Given the description of an element on the screen output the (x, y) to click on. 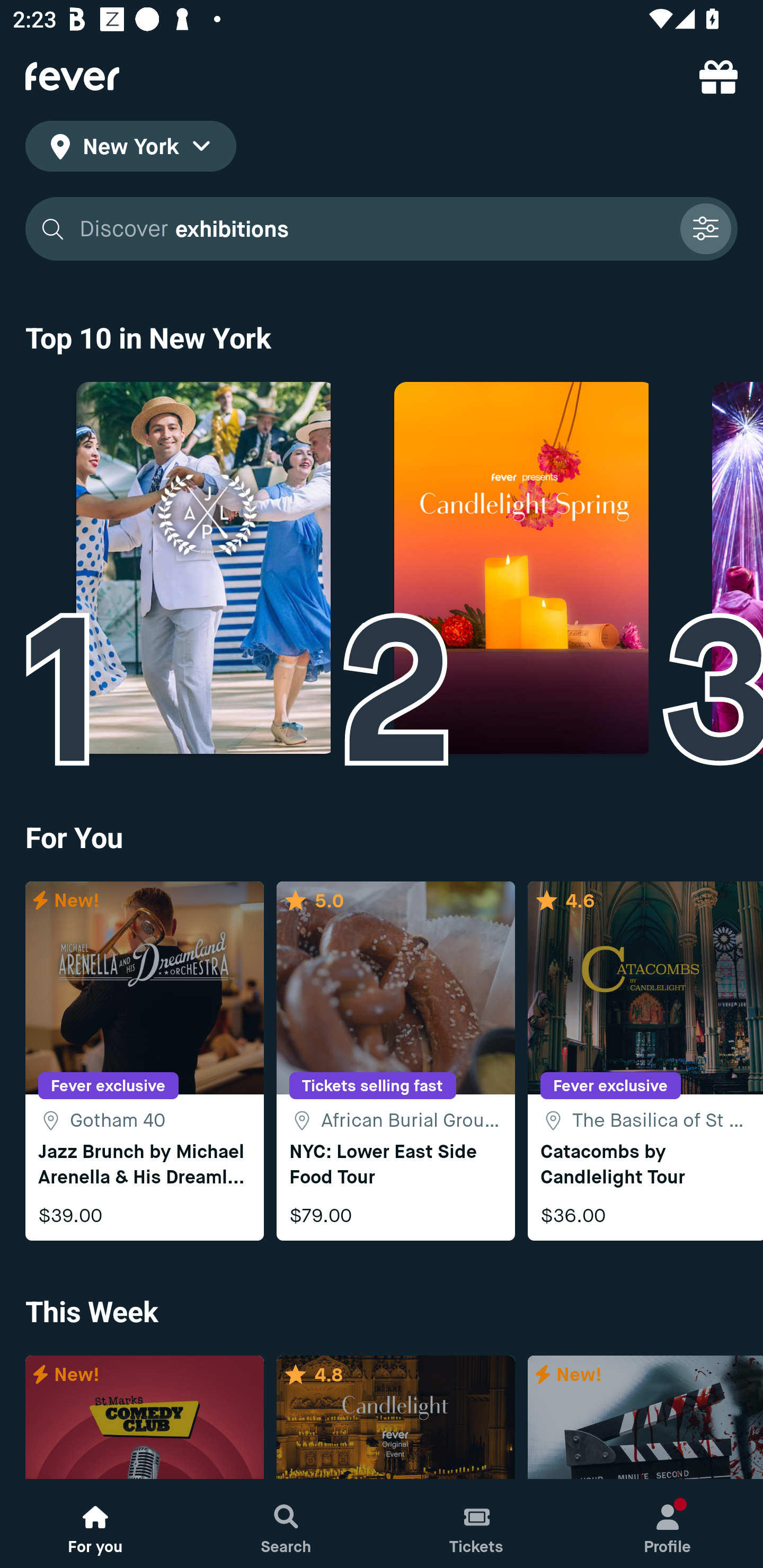
referral (718, 75)
location icon New York location icon (130, 149)
Discover exhibitions (381, 228)
Discover exhibitions (373, 228)
cover image New! label New! Fever exclusive (144, 1417)
cover image 50.0 4.8 Fever exclusive (395, 1417)
cover image New! label New! (645, 1417)
Search (285, 1523)
Tickets (476, 1523)
Profile, New notification Profile (667, 1523)
